Given the description of an element on the screen output the (x, y) to click on. 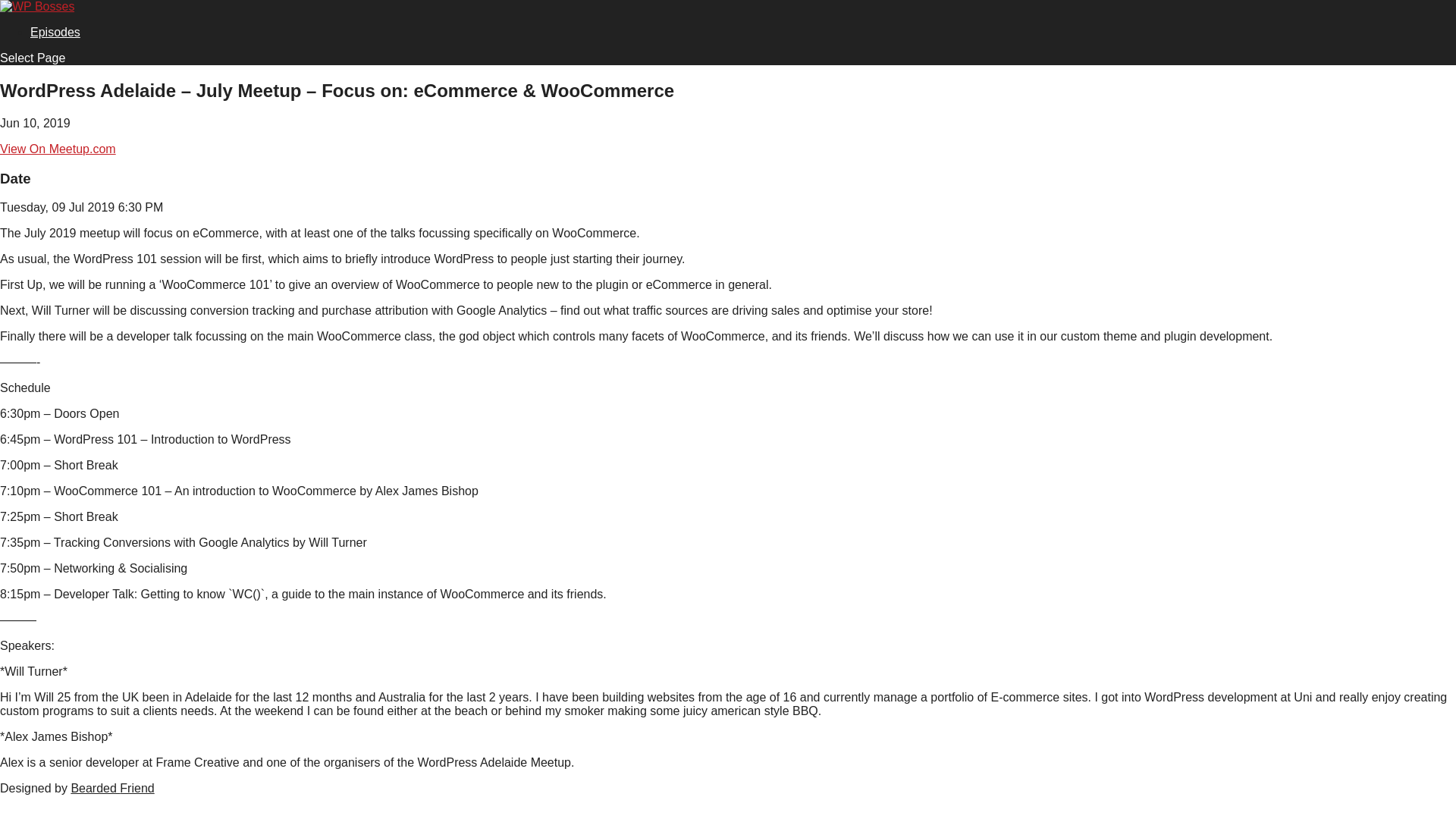
View On Meetup.com (58, 148)
Episodes (55, 31)
Bearded Friend (111, 788)
Five Hats (111, 788)
